Given the description of an element on the screen output the (x, y) to click on. 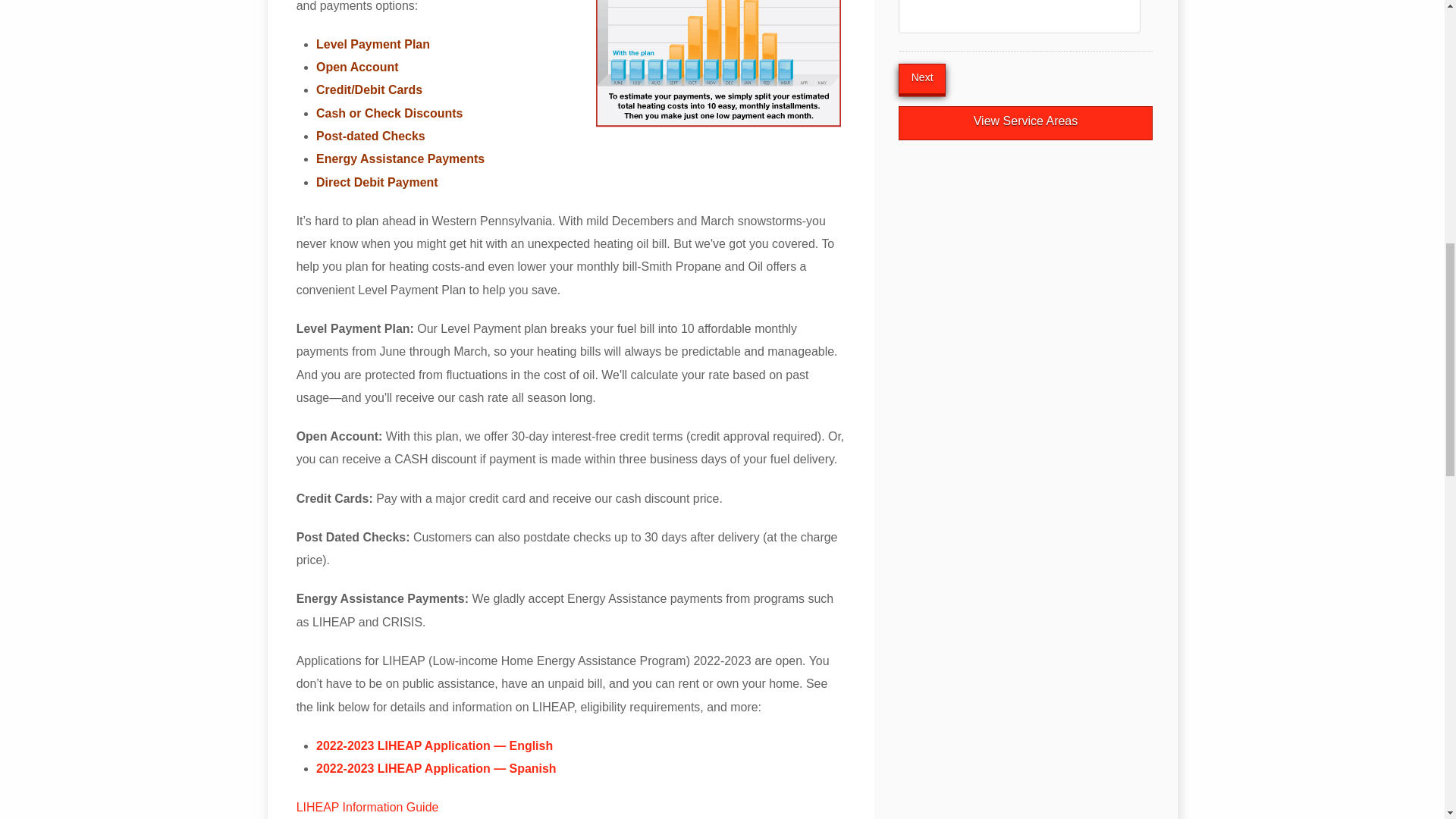
LIHEAP Information Guide (368, 807)
View Service Areas (1025, 123)
Next (921, 78)
